Given the description of an element on the screen output the (x, y) to click on. 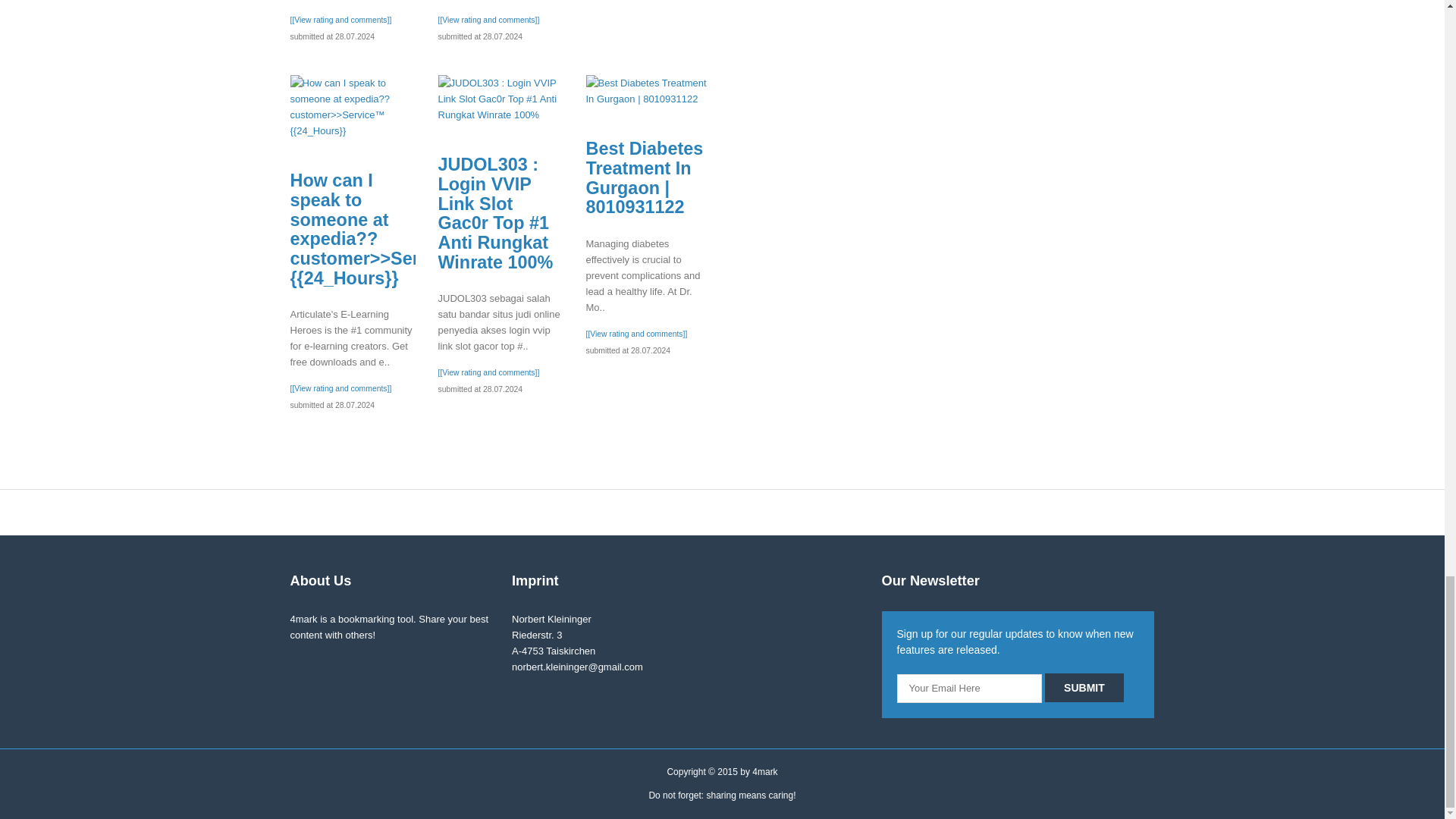
Email (969, 687)
Submit (1084, 687)
